Given the description of an element on the screen output the (x, y) to click on. 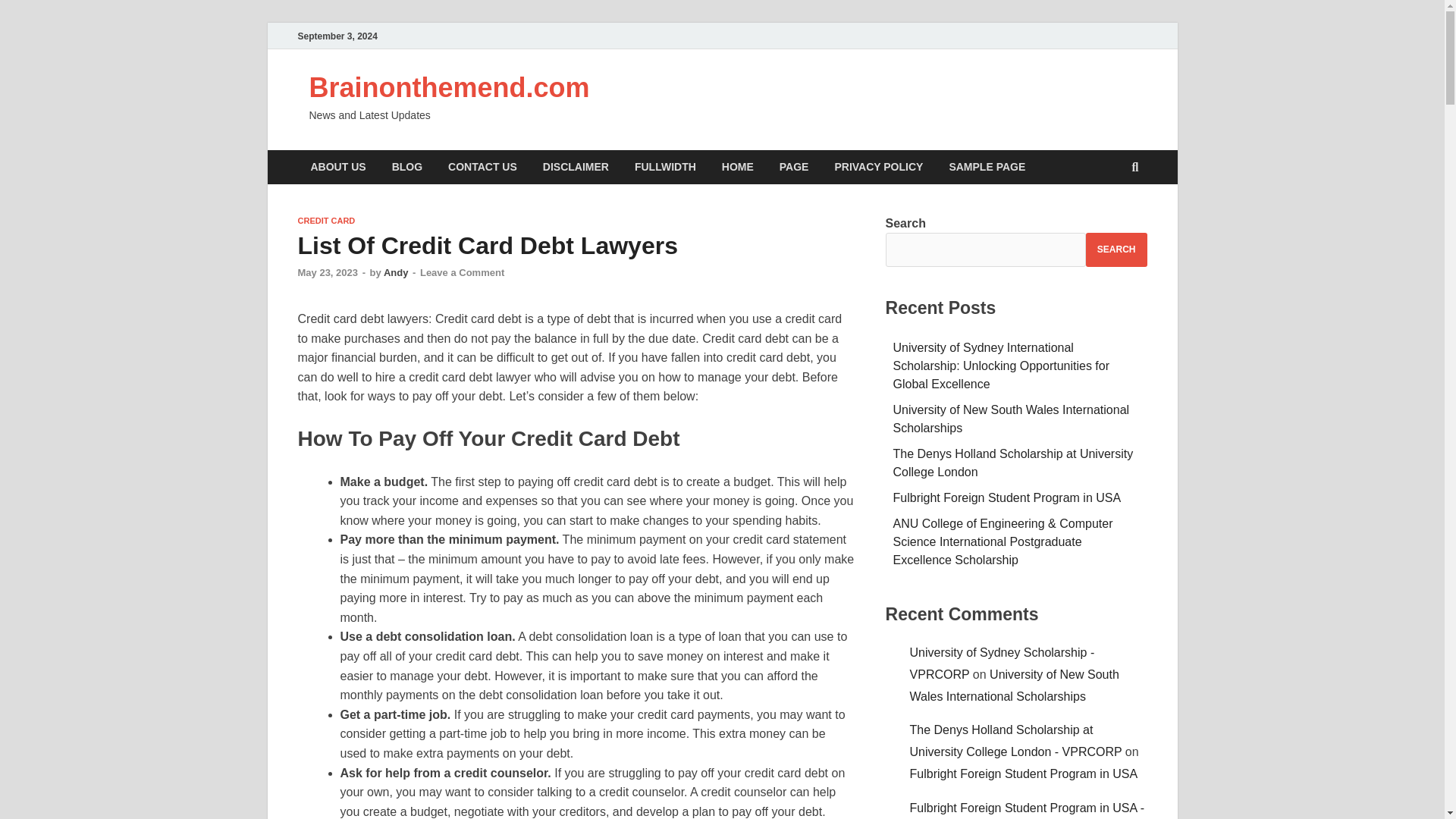
PRIVACY POLICY (878, 166)
Brainonthemend.com (448, 87)
ABOUT US (337, 166)
Leave a Comment (461, 272)
DISCLAIMER (575, 166)
May 23, 2023 (327, 272)
HOME (738, 166)
Andy (396, 272)
FULLWIDTH (665, 166)
CREDIT CARD (326, 220)
